Given the description of an element on the screen output the (x, y) to click on. 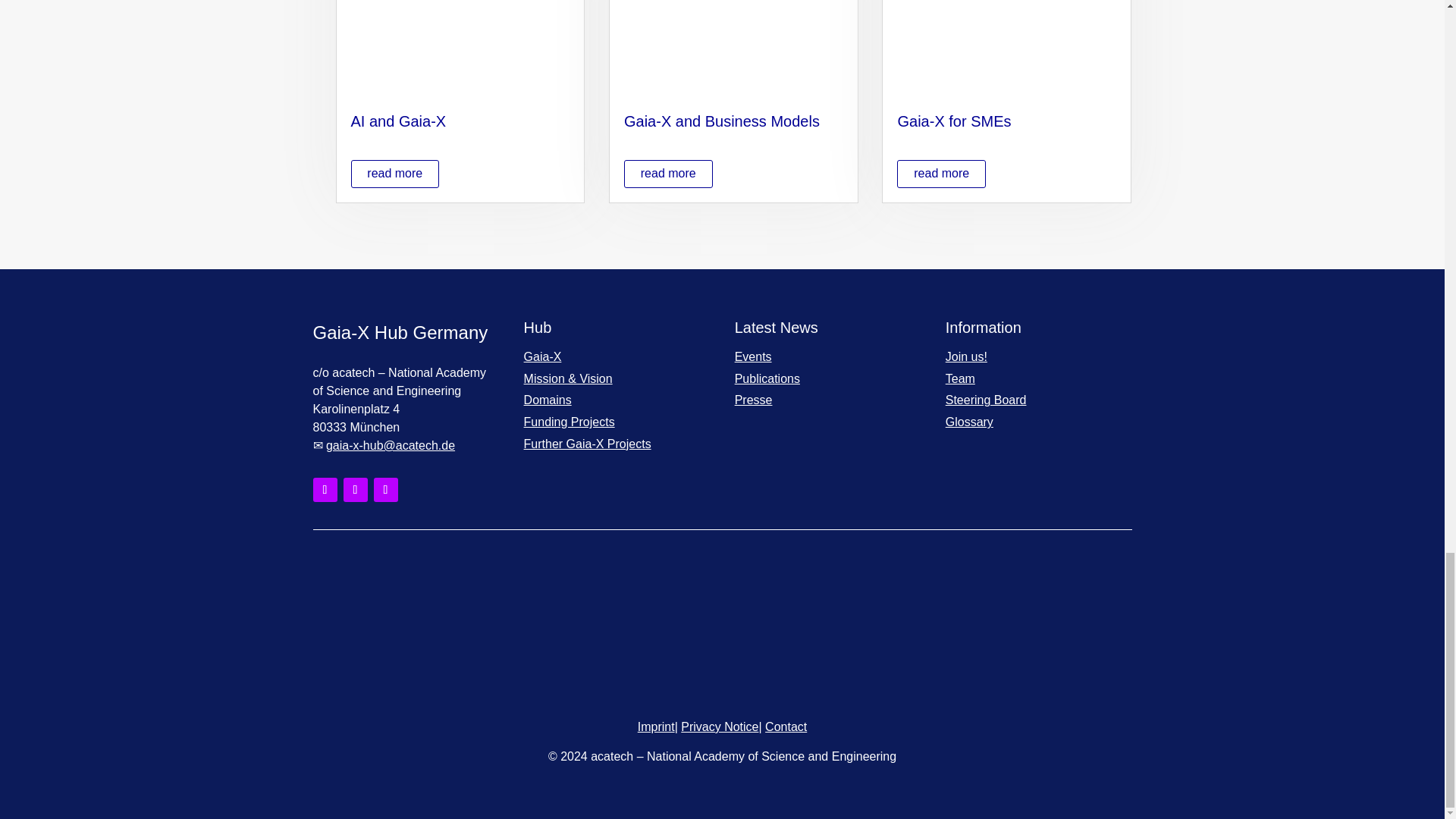
Follow on LinkedIn (324, 489)
Follow on X (354, 489)
Follow on Youtube (384, 489)
